Given the description of an element on the screen output the (x, y) to click on. 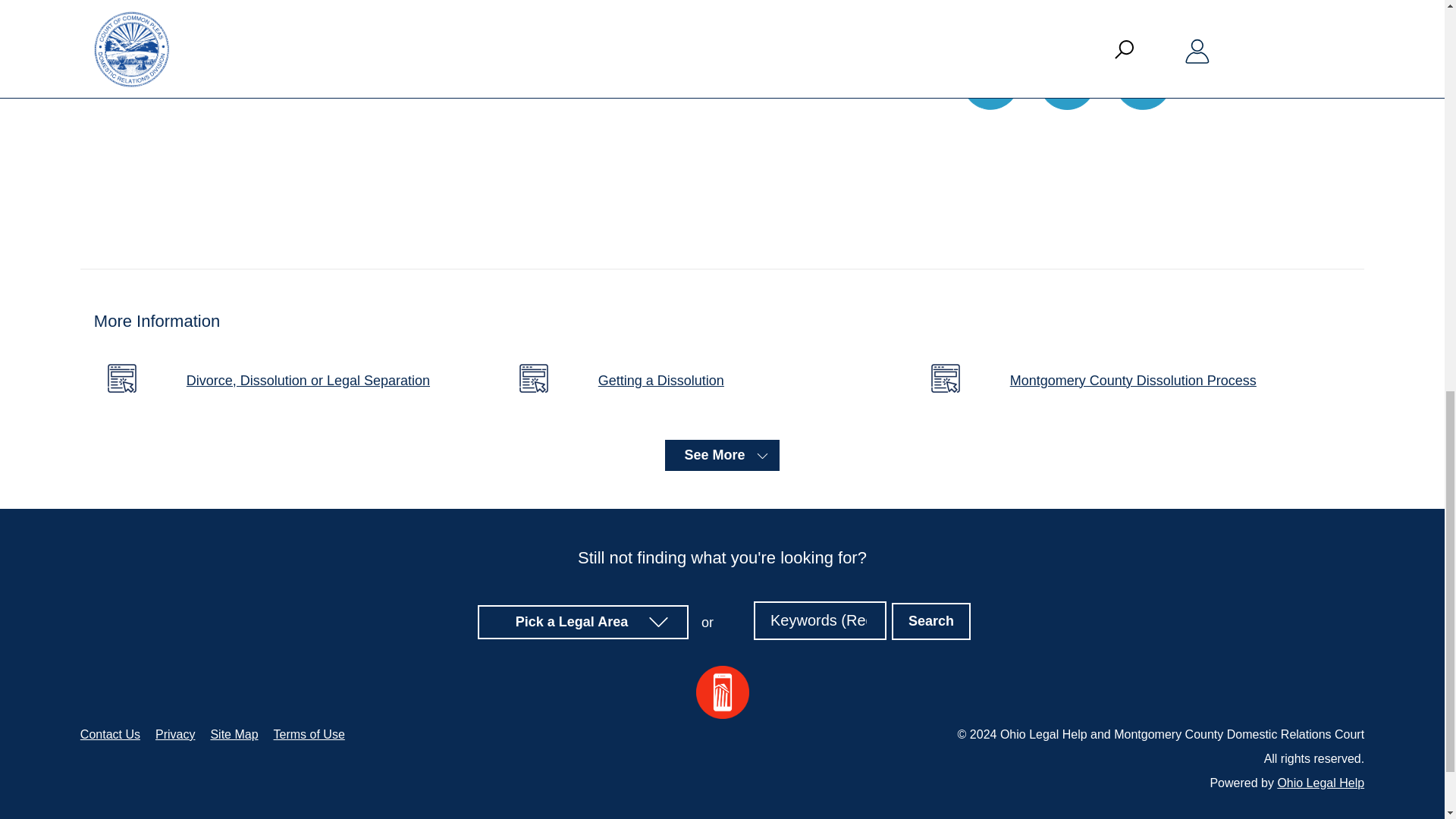
Email (990, 81)
Getting a Dissolution (634, 380)
Contact Us (109, 734)
Link (1143, 81)
Divorce, Dissolution or Legal Separation (281, 380)
See More (721, 454)
Print (1067, 81)
Pick a Legal Area (583, 622)
Search (931, 620)
Montgomery County Dissolution Process (1106, 380)
